Given the description of an element on the screen output the (x, y) to click on. 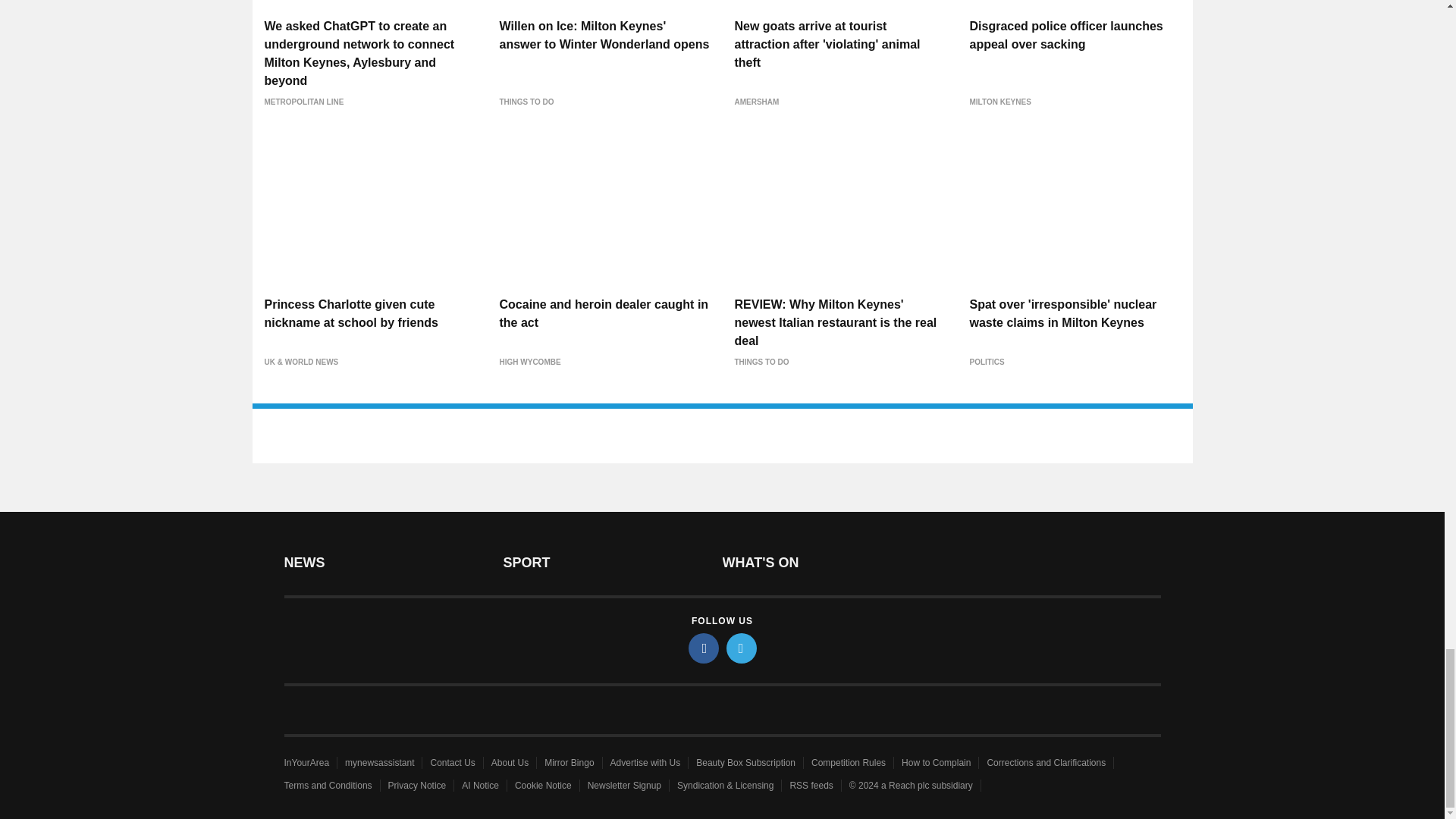
twitter (741, 648)
facebook (703, 648)
